Given the description of an element on the screen output the (x, y) to click on. 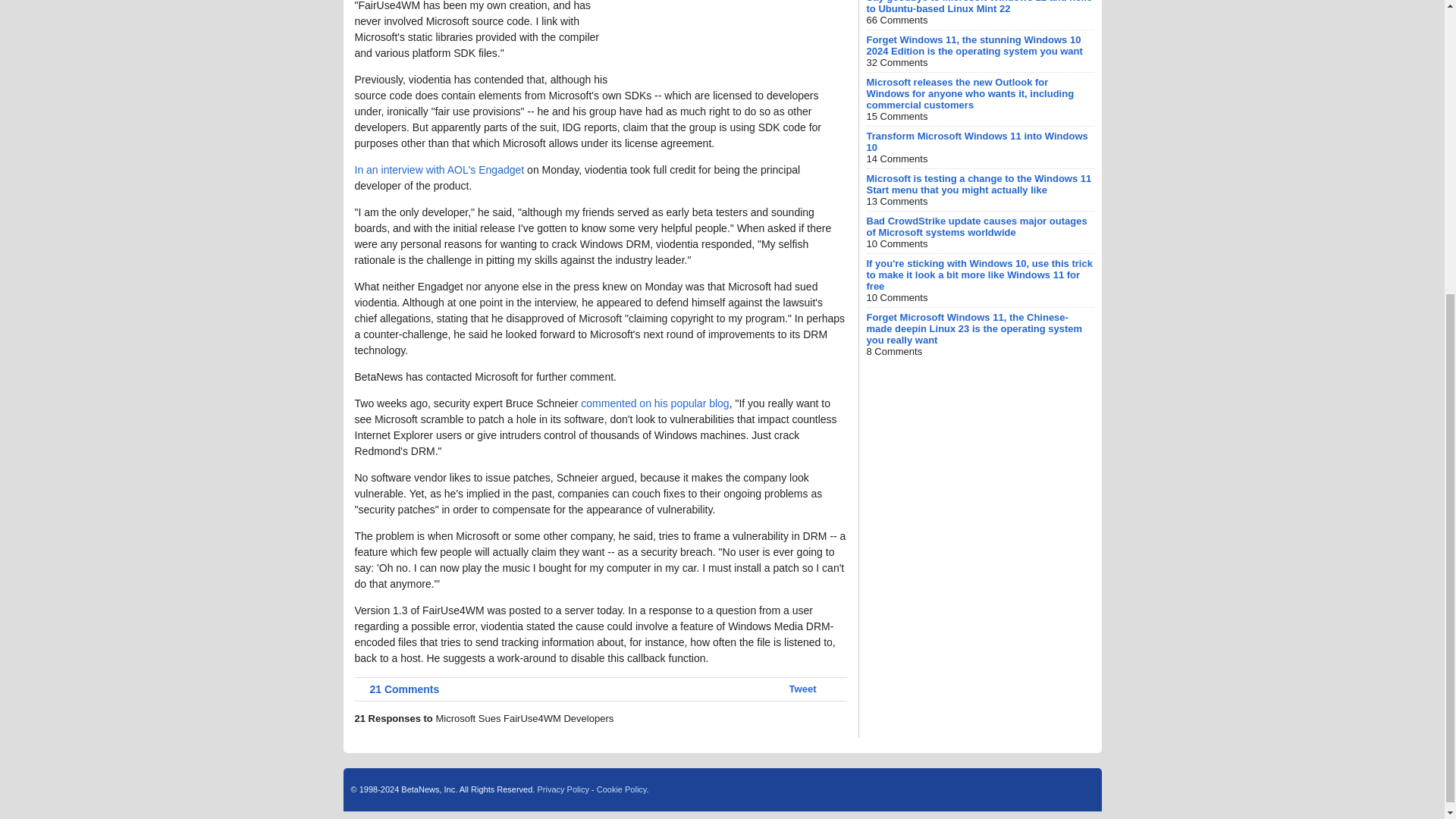
Transform Microsoft Windows 11 into Windows 10 (976, 141)
Advertisement (731, 32)
commented on his popular blog (654, 403)
21 Comments (397, 688)
